Given the description of an element on the screen output the (x, y) to click on. 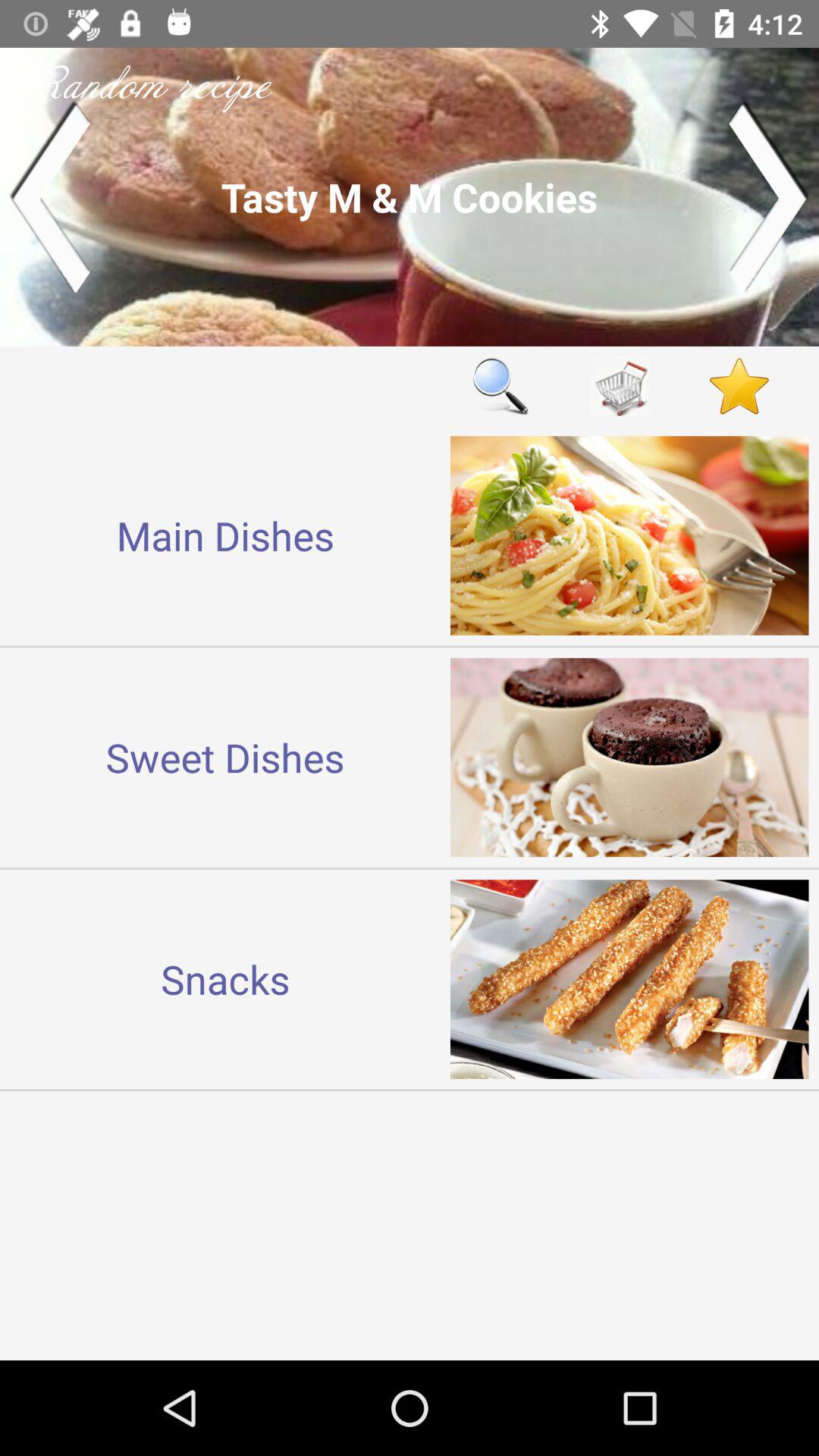
open shopping cart (619, 385)
